Given the description of an element on the screen output the (x, y) to click on. 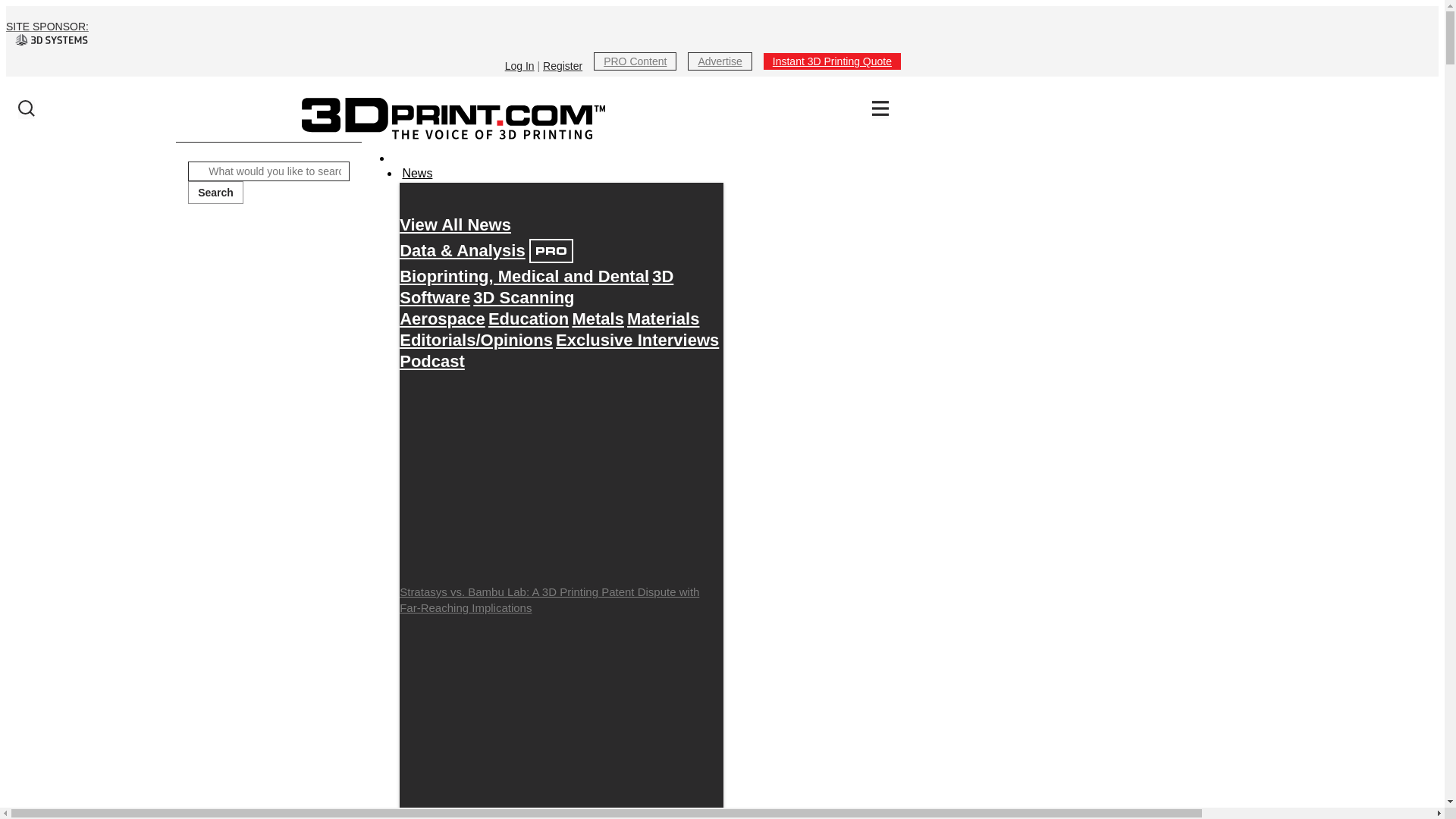
View All News (454, 224)
3D Software (535, 286)
Register (562, 65)
Bioprinting, Medical and Dental (523, 276)
Search (215, 191)
Aerospace (441, 318)
SITE SPONSOR: (453, 32)
PRO Content (635, 60)
Exclusive Interviews (637, 339)
